Given the description of an element on the screen output the (x, y) to click on. 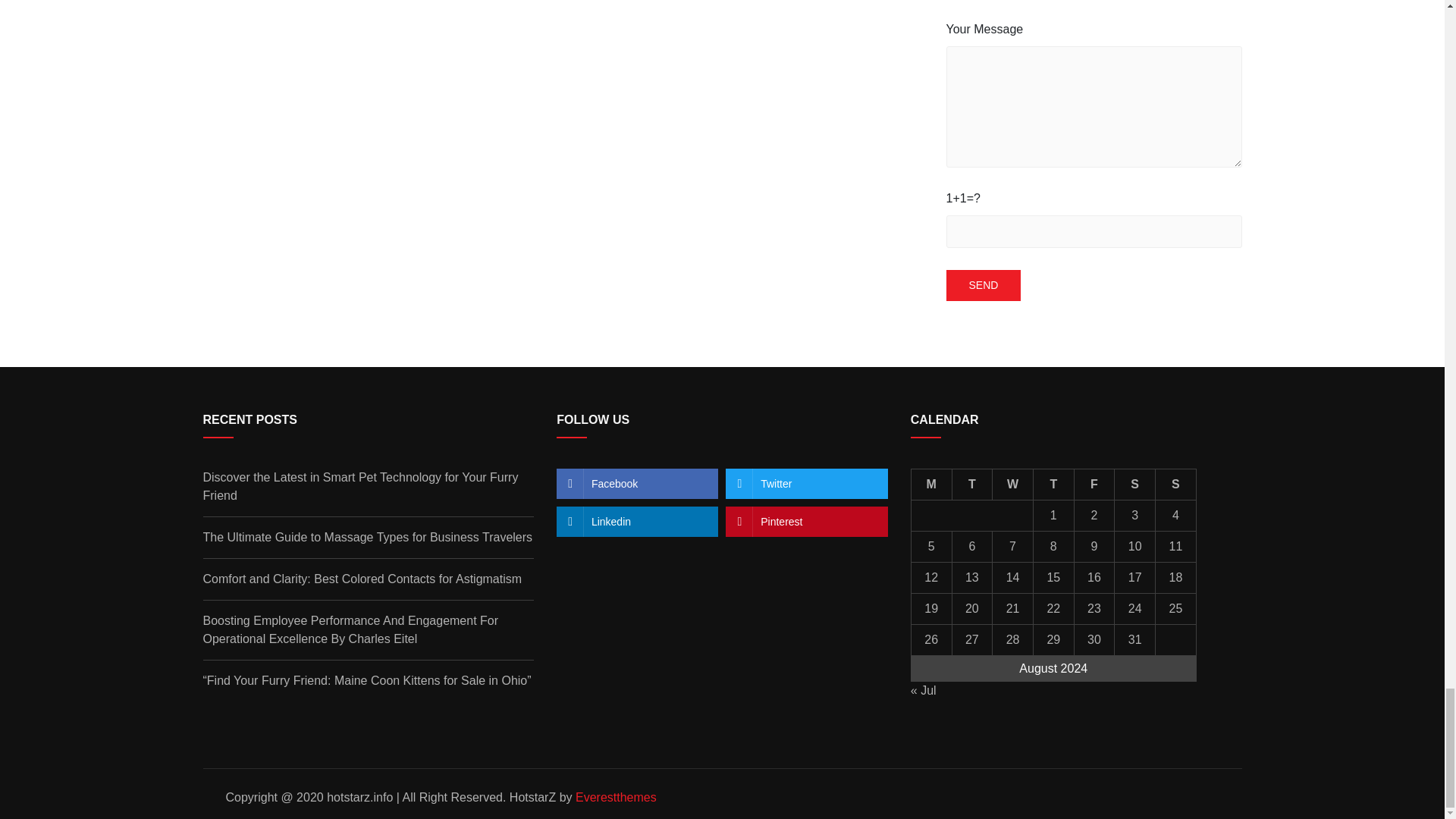
Wednesday (1012, 484)
Sunday (1176, 484)
Tuesday (972, 484)
Monday (931, 484)
Saturday (1135, 484)
Thursday (1053, 484)
Send (984, 285)
Friday (1094, 484)
